Given the description of an element on the screen output the (x, y) to click on. 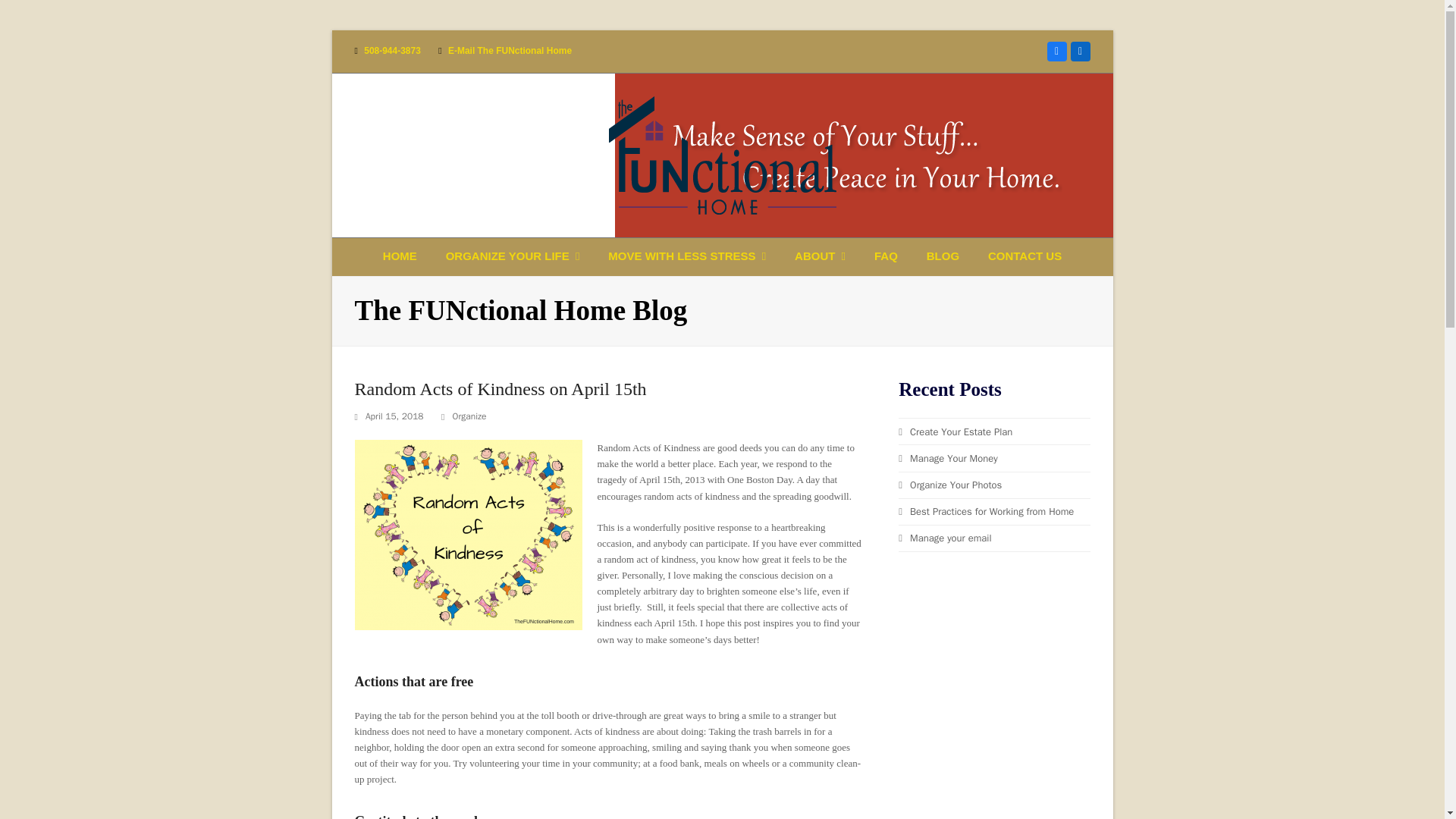
FAQ (886, 257)
HOME (399, 257)
BLOG (943, 257)
ORGANIZE YOUR LIFE (512, 257)
E-Mail The FUNctional Home (510, 50)
LinkedIn (1080, 51)
MOVE WITH LESS STRESS (686, 257)
ABOUT (820, 257)
Facebook (1055, 51)
CONTACT US (1024, 257)
Organize (468, 416)
